Given the description of an element on the screen output the (x, y) to click on. 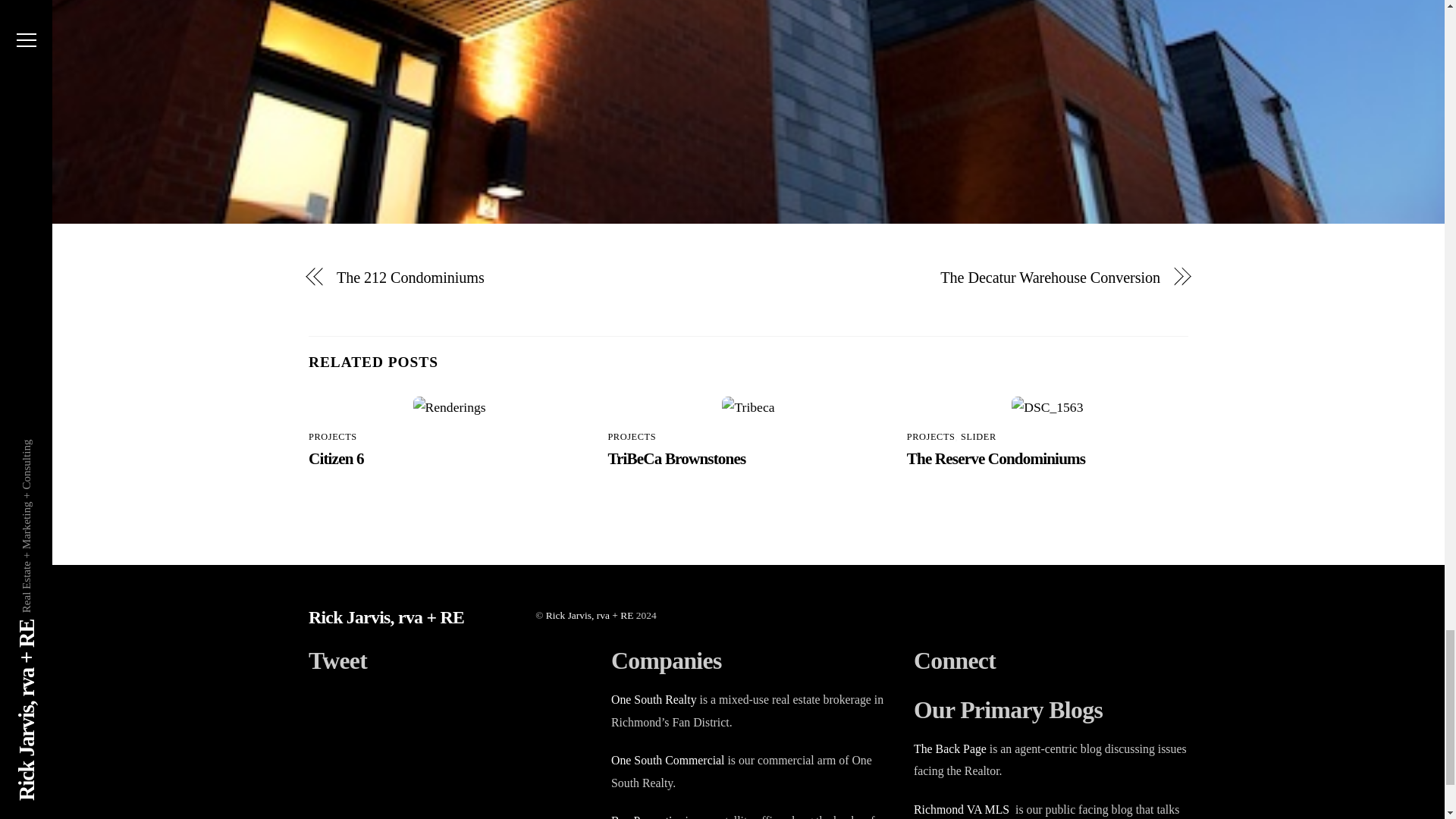
Renderings (449, 407)
The Back Page (950, 748)
TriBeCa Brownstones (676, 458)
PROJECTS (631, 436)
SLIDER (977, 436)
One South Commercial (667, 759)
PROJECTS (332, 436)
The Decatur Warehouse Conversion (967, 277)
The 212 Condominiums (529, 277)
Citizen 6 (336, 458)
